Given the description of an element on the screen output the (x, y) to click on. 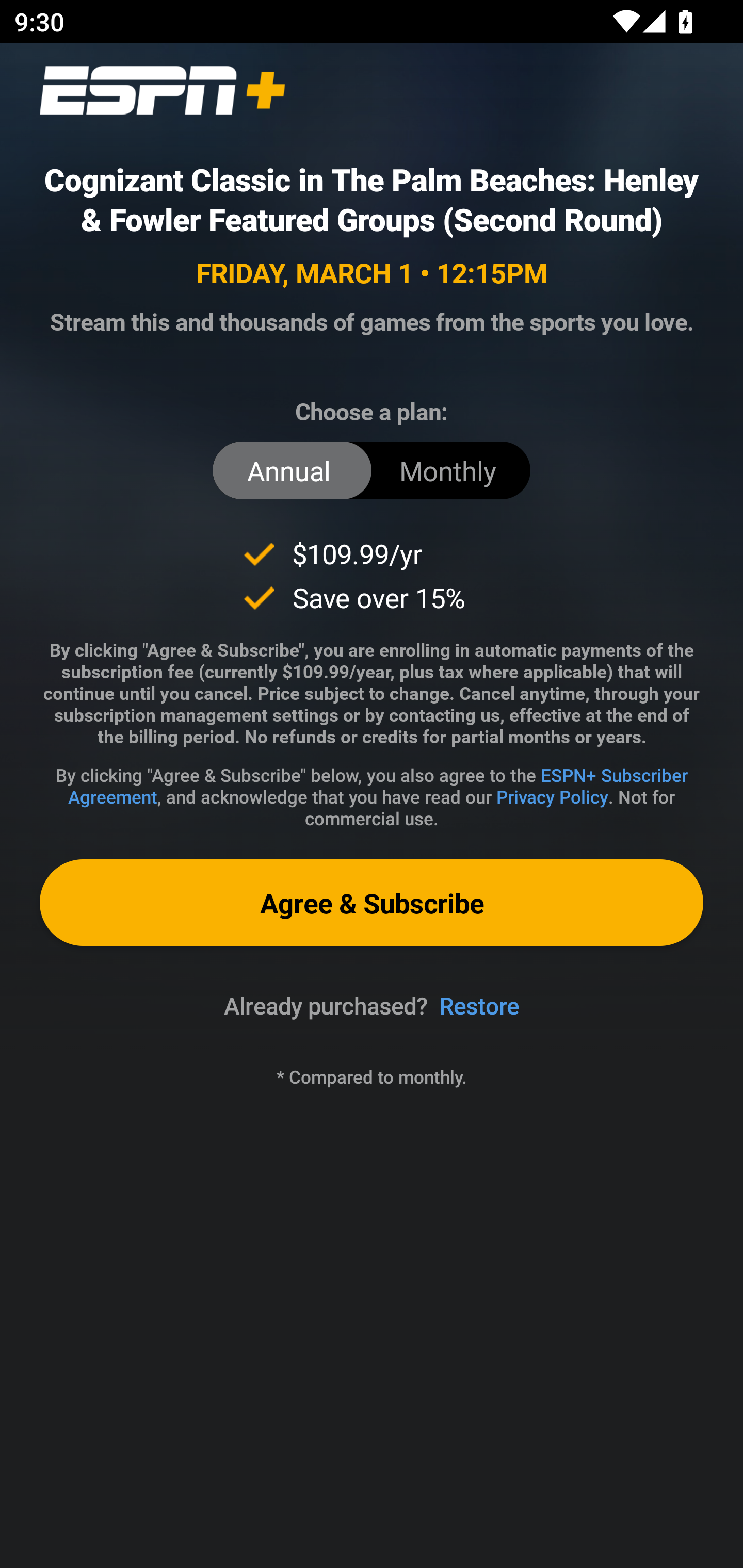
Agree & Subscribe (371, 902)
